Given the description of an element on the screen output the (x, y) to click on. 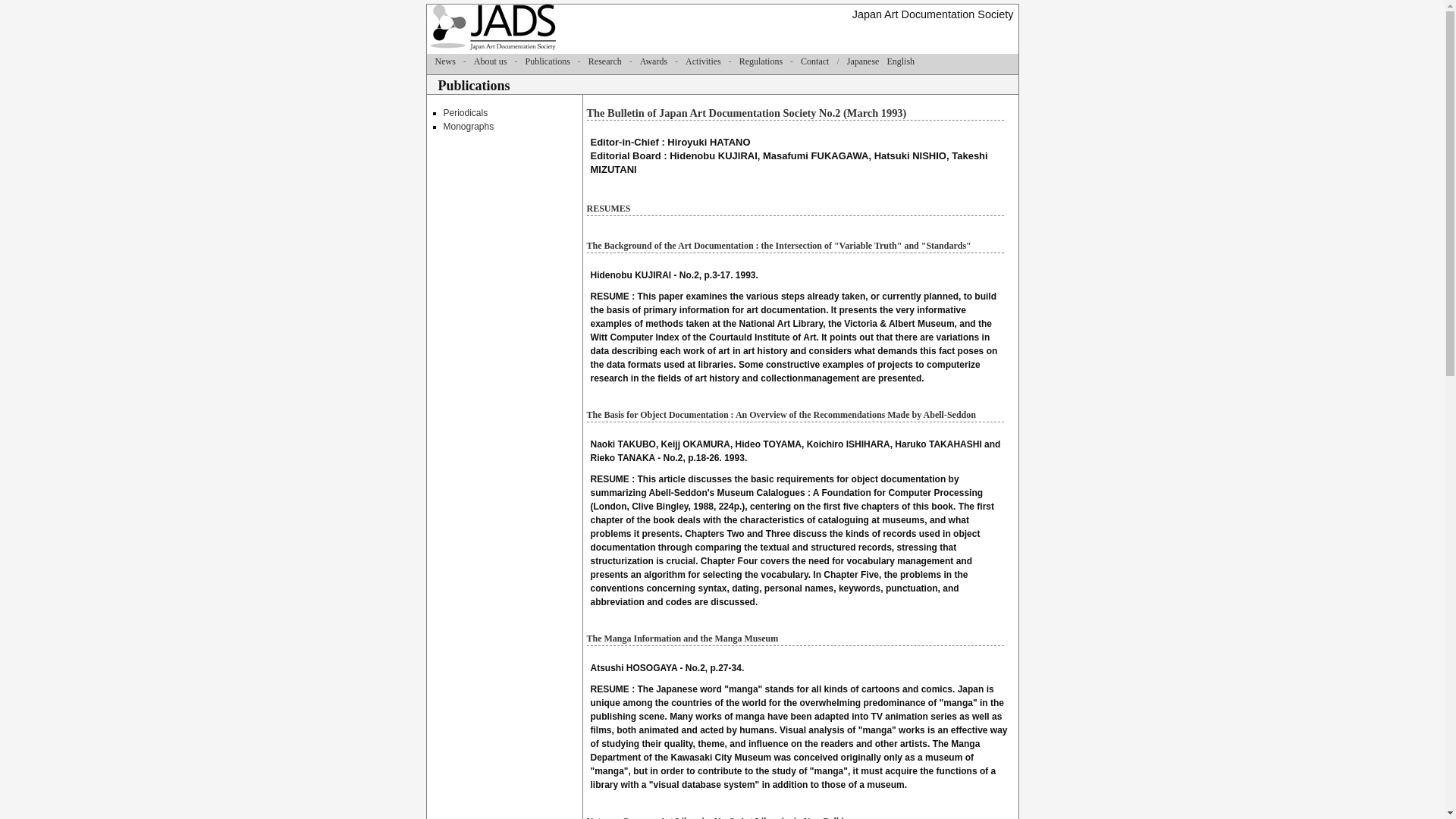
Contact (814, 61)
English (900, 61)
Activities (702, 61)
News (445, 61)
Regulations (761, 61)
Awards (653, 61)
Research (604, 61)
Periodicals (464, 112)
About us (490, 61)
Publications (546, 61)
